Given the description of an element on the screen output the (x, y) to click on. 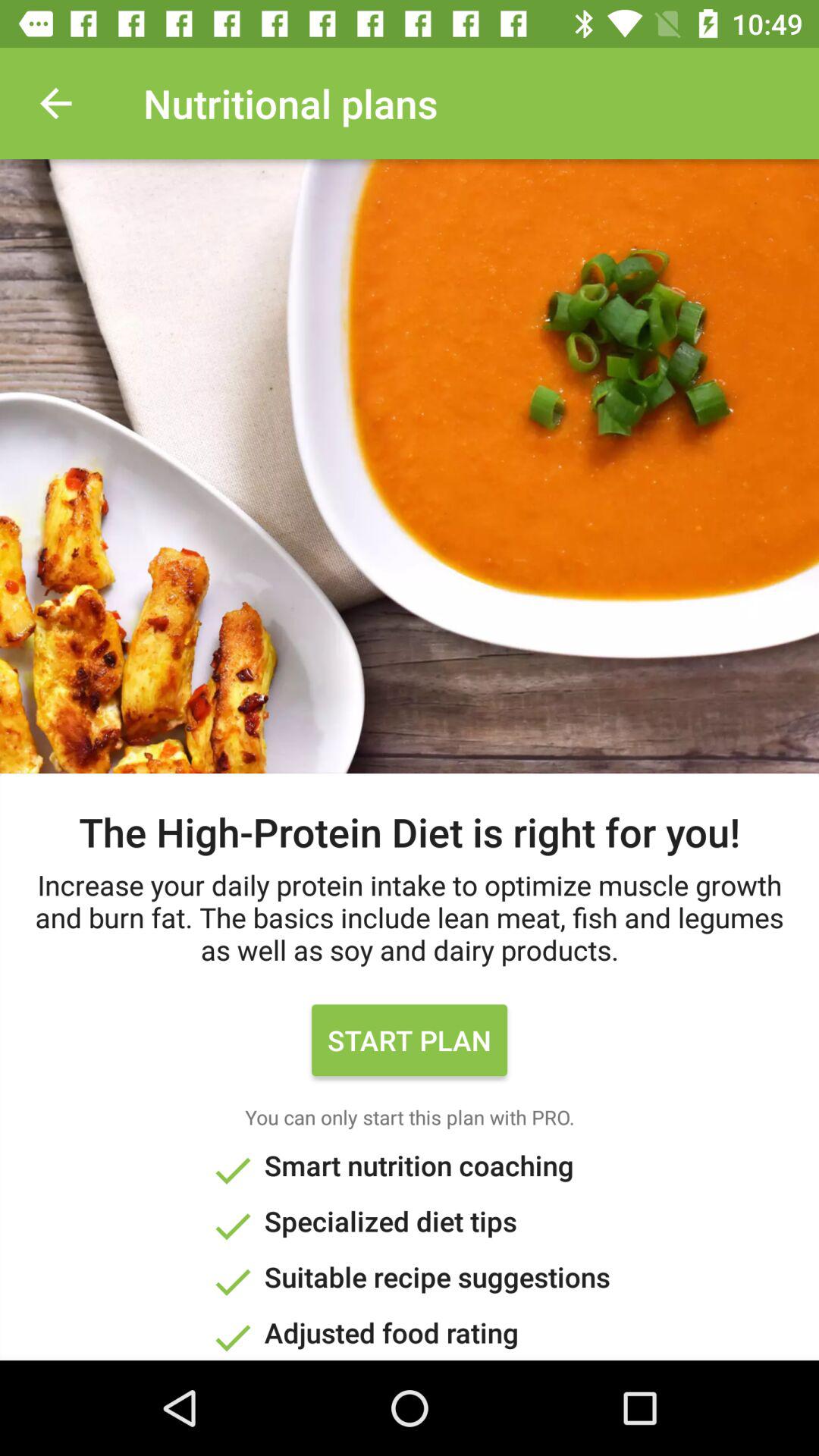
choose icon to the left of nutritional plans item (55, 103)
